Given the description of an element on the screen output the (x, y) to click on. 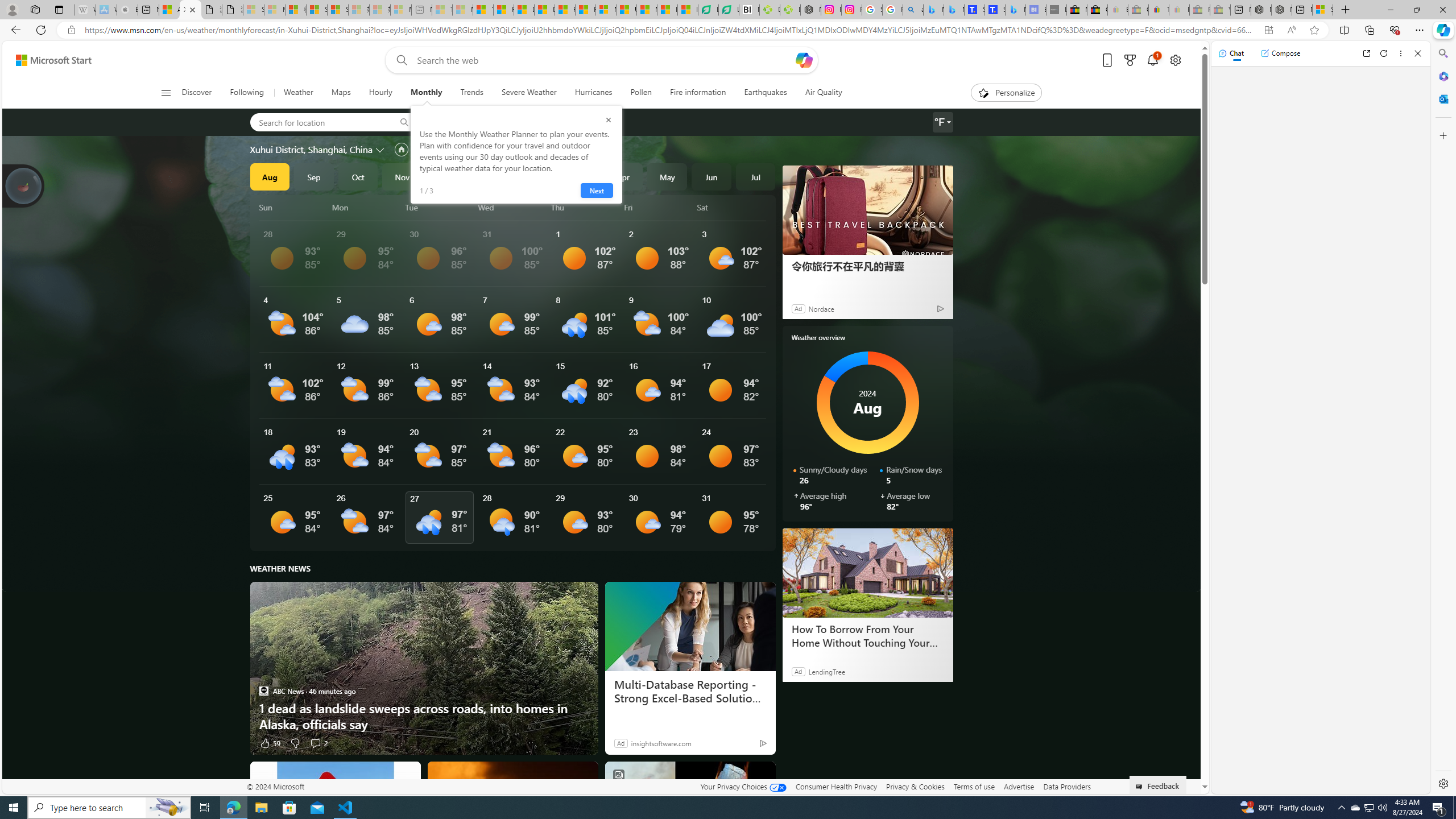
Fri (659, 207)
Mon (366, 207)
Dec (445, 176)
Dec (445, 176)
Severe Weather (529, 92)
View comments 2 Comment (317, 742)
Apr (622, 176)
View comments 2 Comment (314, 743)
